Given the description of an element on the screen output the (x, y) to click on. 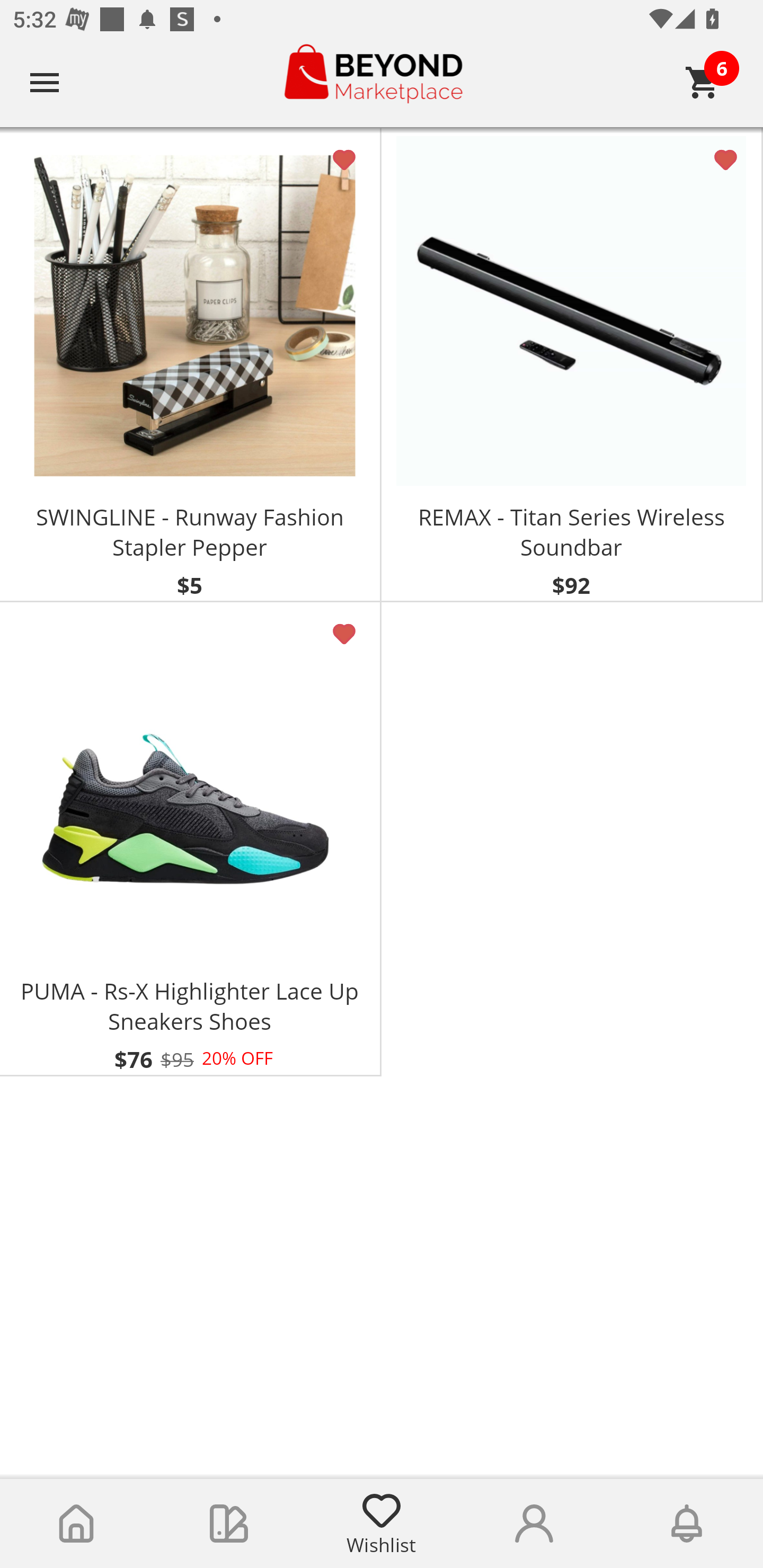
Navigate up (44, 82)
SWINGLINE - Runway Fashion Stapler Pepper $5 (190, 365)
REMAX - Titan Series Wireless Soundbar $92 (572, 365)
Home (76, 1523)
Collections (228, 1523)
Account (533, 1523)
Notifications (686, 1523)
